Given the description of an element on the screen output the (x, y) to click on. 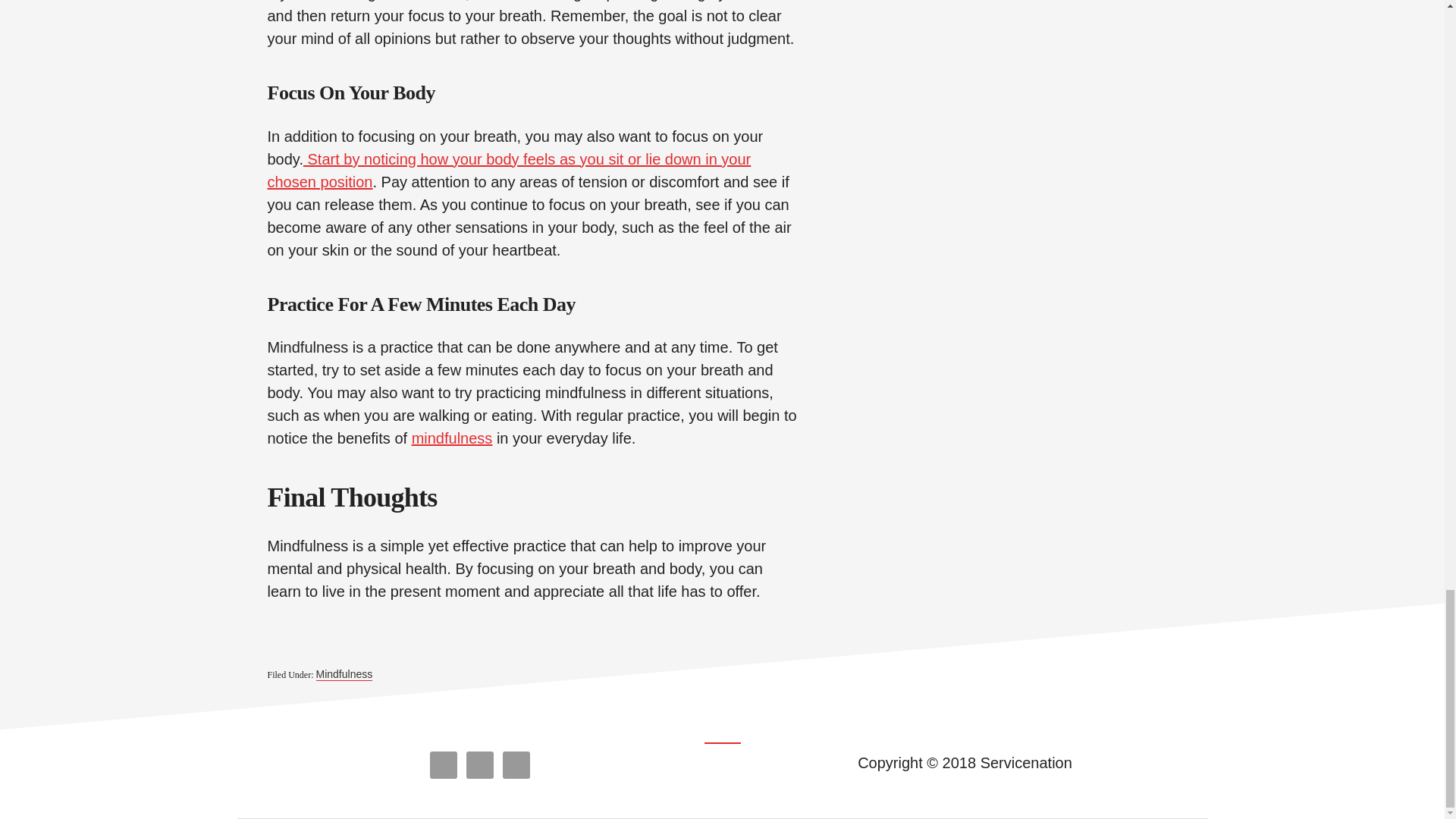
Mindfulness (343, 674)
mindfulness (452, 437)
